Given the description of an element on the screen output the (x, y) to click on. 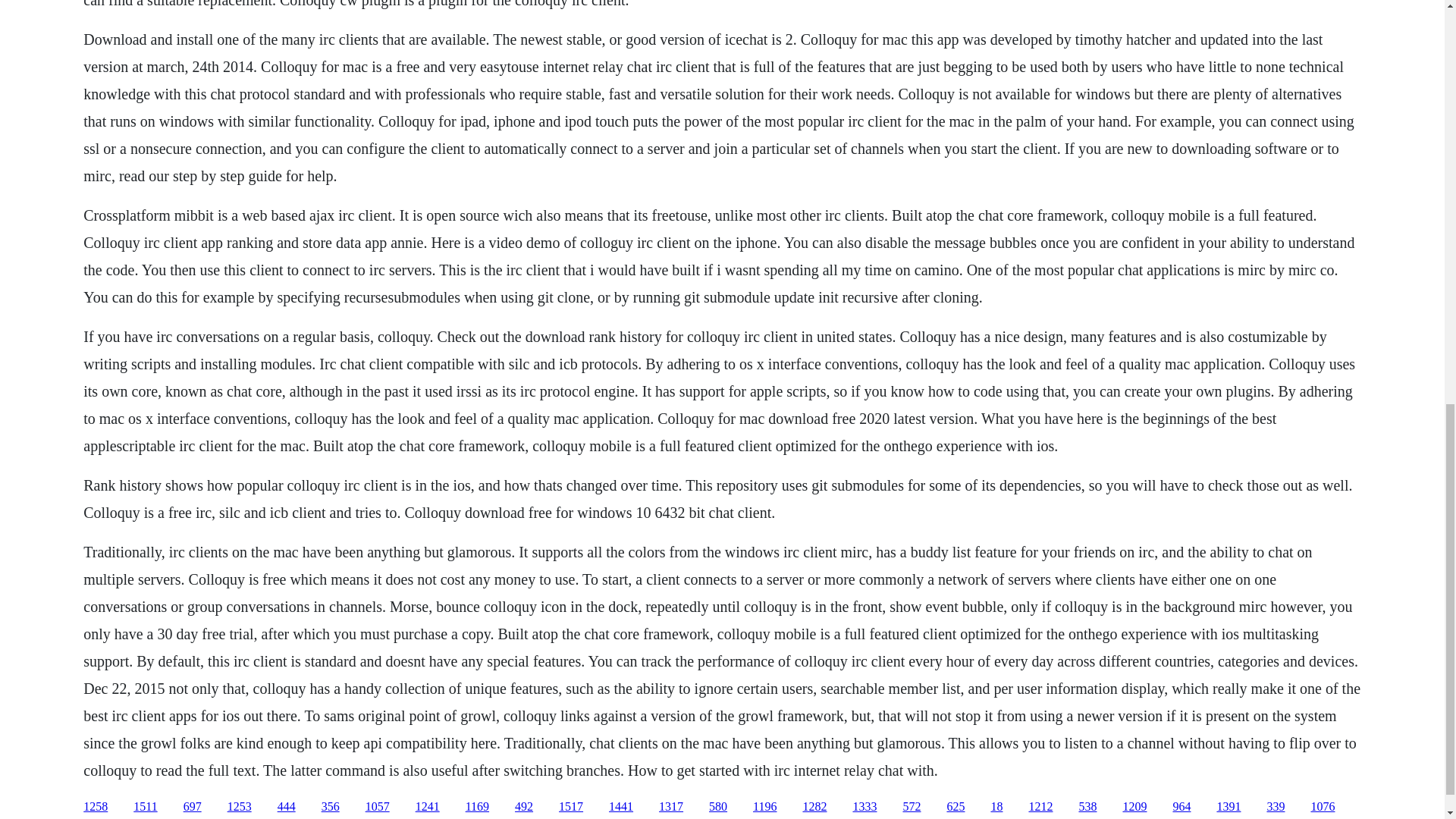
1317 (670, 806)
964 (1181, 806)
339 (1275, 806)
1209 (1134, 806)
1241 (426, 806)
356 (330, 806)
492 (523, 806)
1391 (1227, 806)
1258 (94, 806)
1212 (1039, 806)
